Given the description of an element on the screen output the (x, y) to click on. 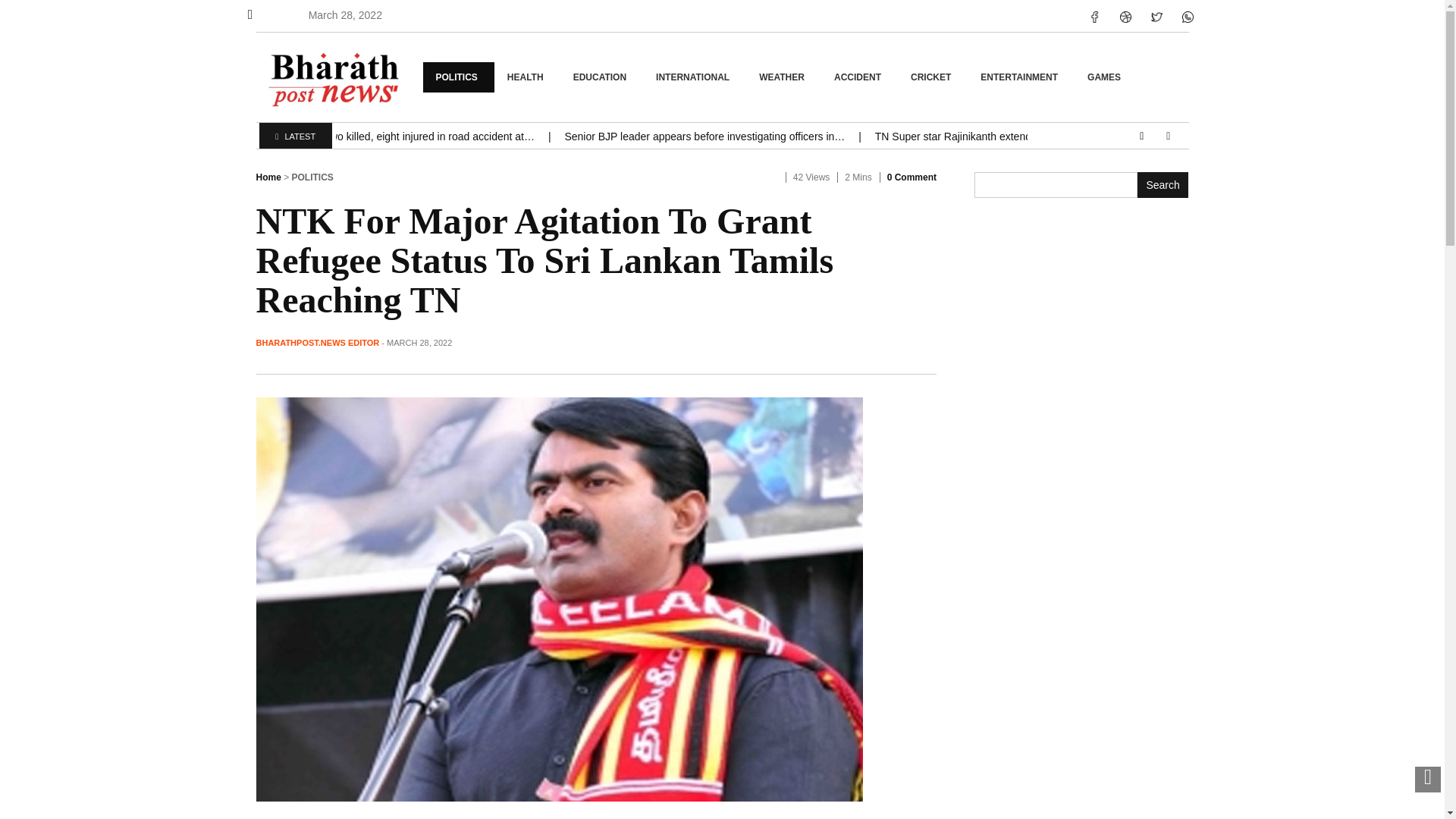
Facebook (1187, 16)
Home (268, 176)
POLITICS (459, 77)
BHARATHPOST.NEWS EDITOR (318, 342)
HEALTH (527, 77)
ENTERTAINMENT (1021, 77)
GAMES (1105, 77)
ACCIDENT (859, 77)
POLITICS (312, 176)
0 Comment (911, 176)
Dribble (1125, 16)
Twitter (1156, 16)
WEATHER (783, 77)
INTERNATIONAL (694, 77)
CRICKET (933, 77)
